Given the description of an element on the screen output the (x, y) to click on. 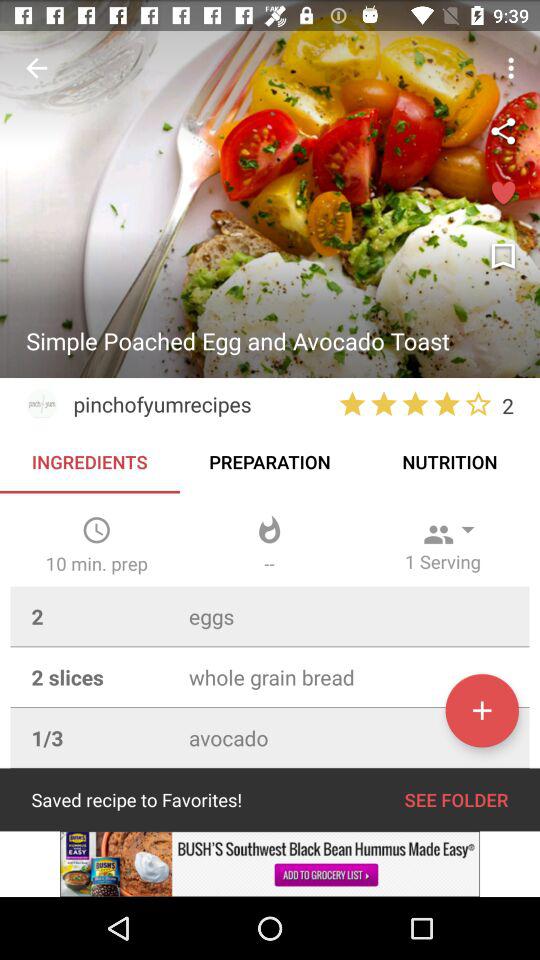
go back (36, 68)
